Given the description of an element on the screen output the (x, y) to click on. 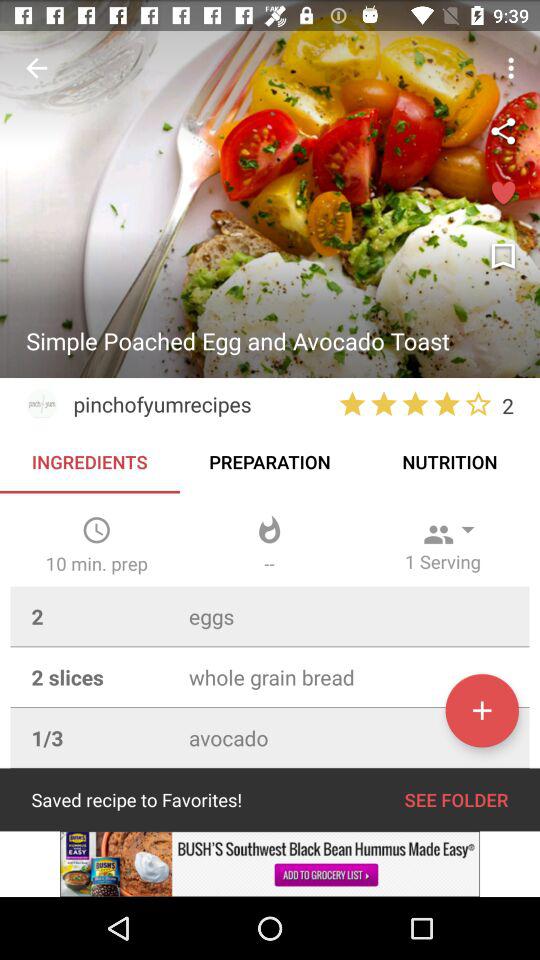
go back (36, 68)
